Given the description of an element on the screen output the (x, y) to click on. 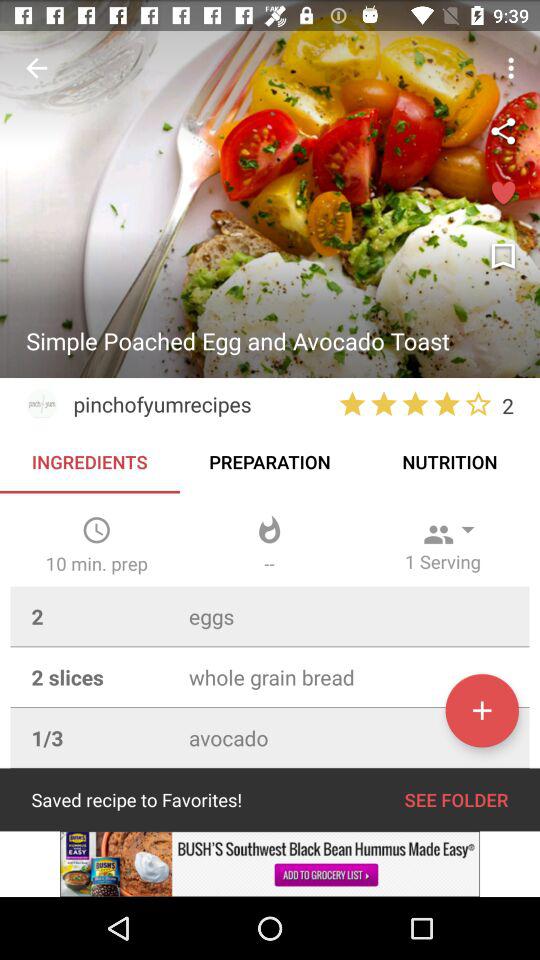
go back (36, 68)
